Given the description of an element on the screen output the (x, y) to click on. 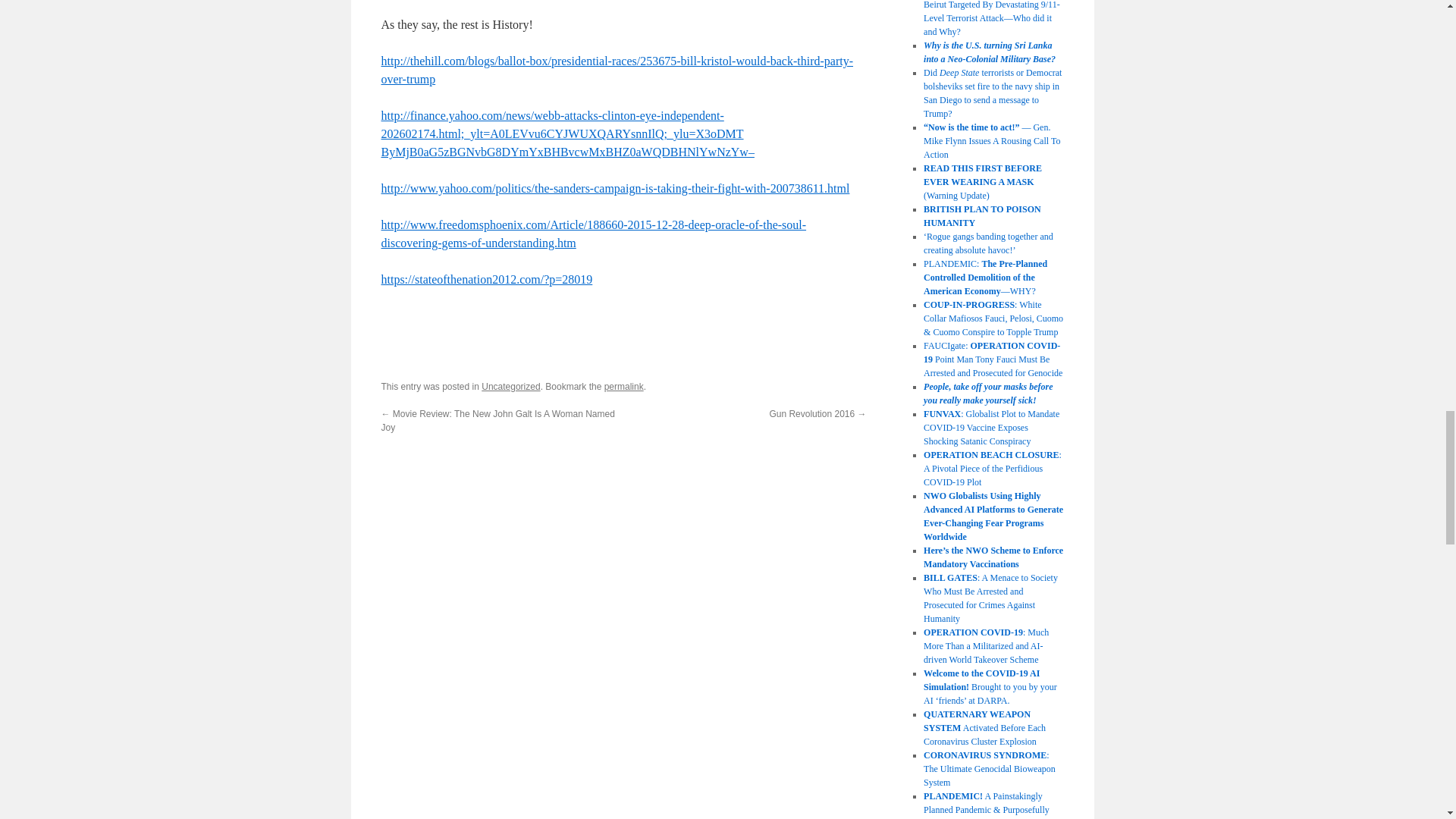
permalink (623, 386)
Permalink to Confessions of a Political Entrepreneur (623, 386)
Uncategorized (510, 386)
